Given the description of an element on the screen output the (x, y) to click on. 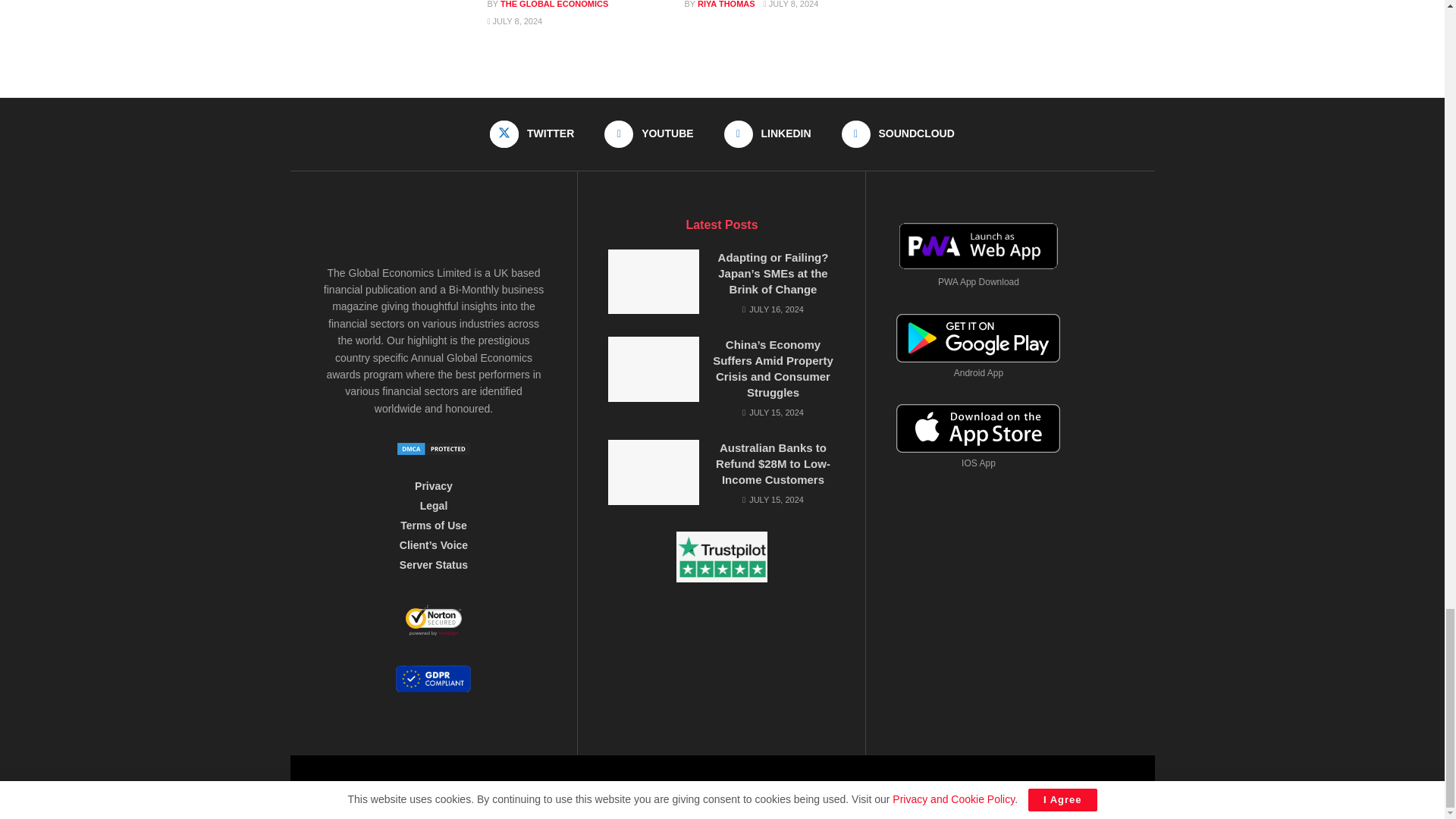
Norton Verified (433, 624)
DMCA.com Protection Status (433, 448)
The Global Economics UK (895, 786)
